Given the description of an element on the screen output the (x, y) to click on. 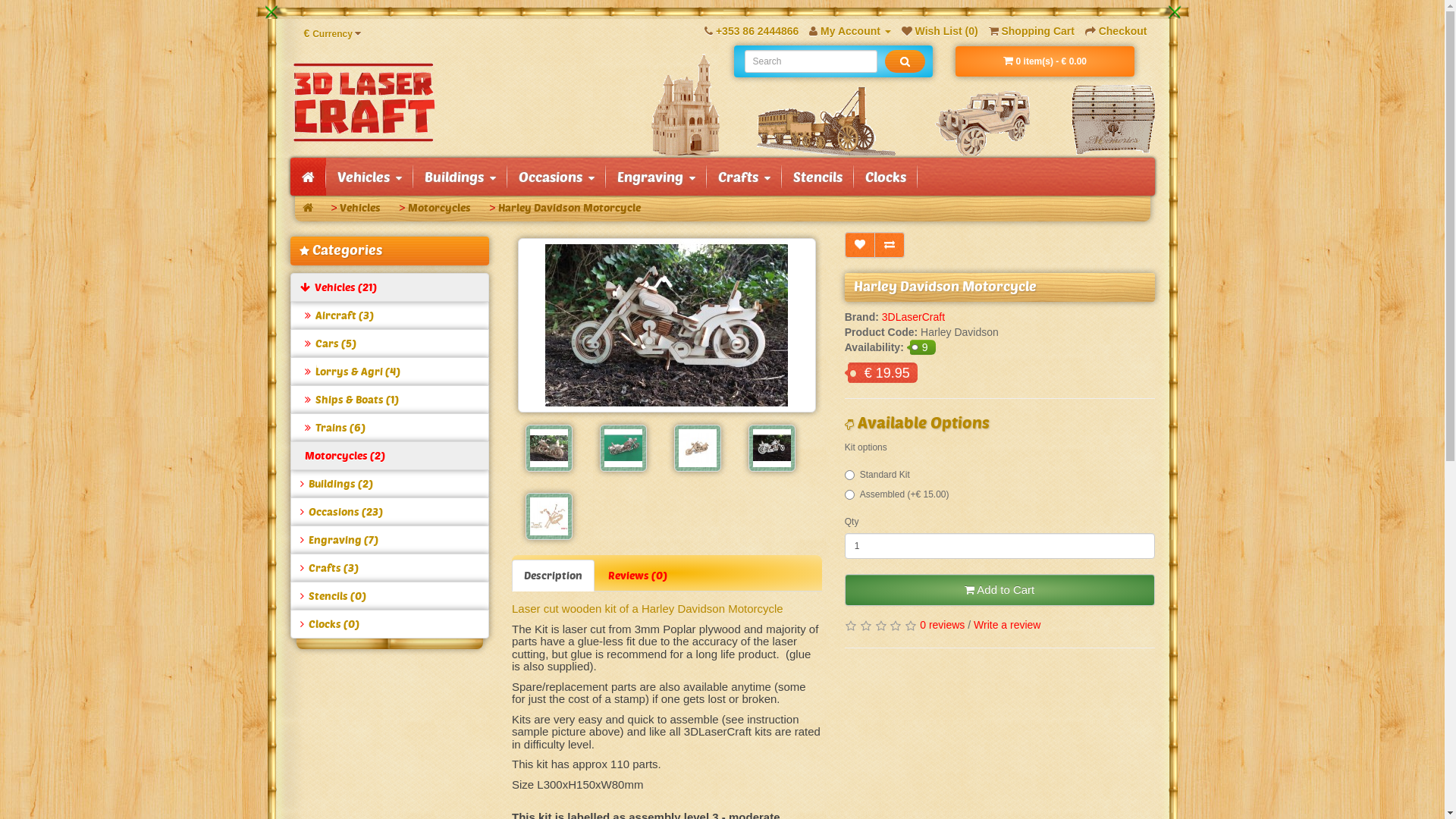
    Cars (5) Element type: text (389, 343)
Description Element type: text (552, 575)
Shopping Cart Element type: text (1031, 31)
Harley Davidson Motorcycle Element type: hover (623, 448)
Harley Davidson Motorcycle Element type: hover (548, 516)
  Stencils (0) Element type: text (389, 595)
Stencils Element type: text (817, 176)
Crafts   Element type: text (743, 176)
  Buildings (2) Element type: text (389, 483)
My Account Element type: text (850, 31)
3DLaserCraft Element type: text (912, 316)
  Clocks (0) Element type: text (389, 623)
Wish List (0) Element type: text (939, 31)
    Aircraft (3) Element type: text (389, 315)
  Motorcycles (2) Element type: text (389, 455)
    Trains (6) Element type: text (389, 427)
0 reviews Element type: text (941, 624)
Write a review Element type: text (1006, 624)
Vehicles   Element type: text (369, 176)
Add to Cart Element type: text (999, 589)
    Ships & Boats (1) Element type: text (389, 399)
Buildings   Element type: text (459, 176)
Harley Davidson Motorcycle Element type: hover (666, 324)
  Crafts (3) Element type: text (389, 567)
  Vehicles (21) Element type: text (389, 287)
Occasions   Element type: text (555, 176)
  Engraving (7) Element type: text (389, 539)
3DLaserCraft Element type: hover (362, 101)
Motorcycles Element type: text (438, 206)
Clocks Element type: text (885, 176)
Reviews (0) Element type: text (637, 575)
Harley Davidson Motorcycle Element type: hover (771, 448)
Harley Davidson Motorcycle Element type: text (569, 206)
    Lorrys & Agri (4) Element type: text (389, 371)
Engraving   Element type: text (655, 176)
  Occasions (23) Element type: text (389, 511)
Harley Davidson Motorcycle Element type: hover (548, 448)
Checkout Element type: text (1116, 31)
Harley Davidson Motorcycle Element type: hover (697, 448)
Vehicles Element type: text (359, 206)
